Given the description of an element on the screen output the (x, y) to click on. 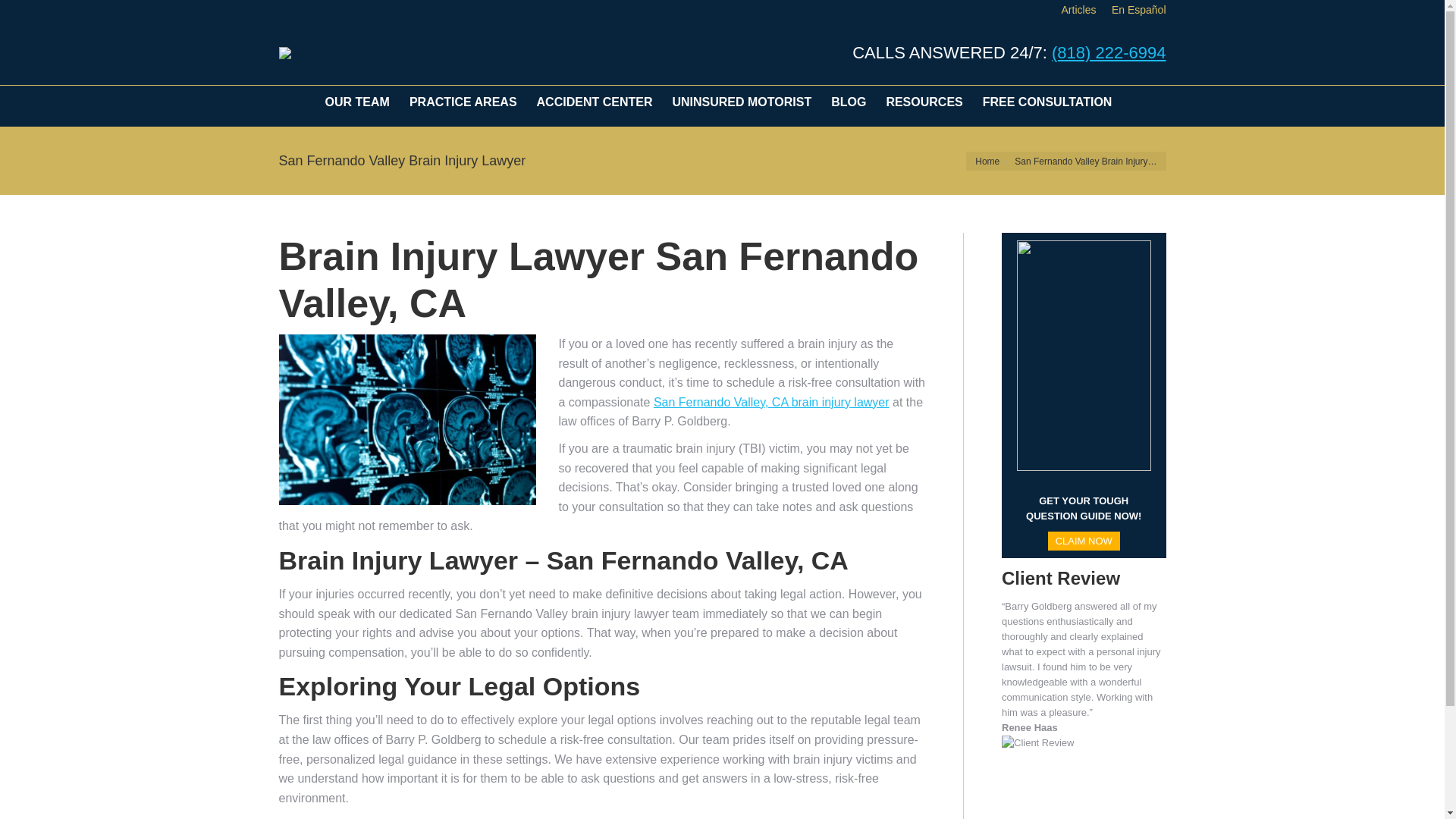
ACCIDENT CENTER (596, 101)
UNINSURED MOTORIST (741, 101)
RESOURCES (924, 101)
Home (986, 161)
Articles (1078, 9)
OUR TEAM (357, 101)
PRACTICE AREAS (463, 101)
BLOG (849, 101)
